Given the description of an element on the screen output the (x, y) to click on. 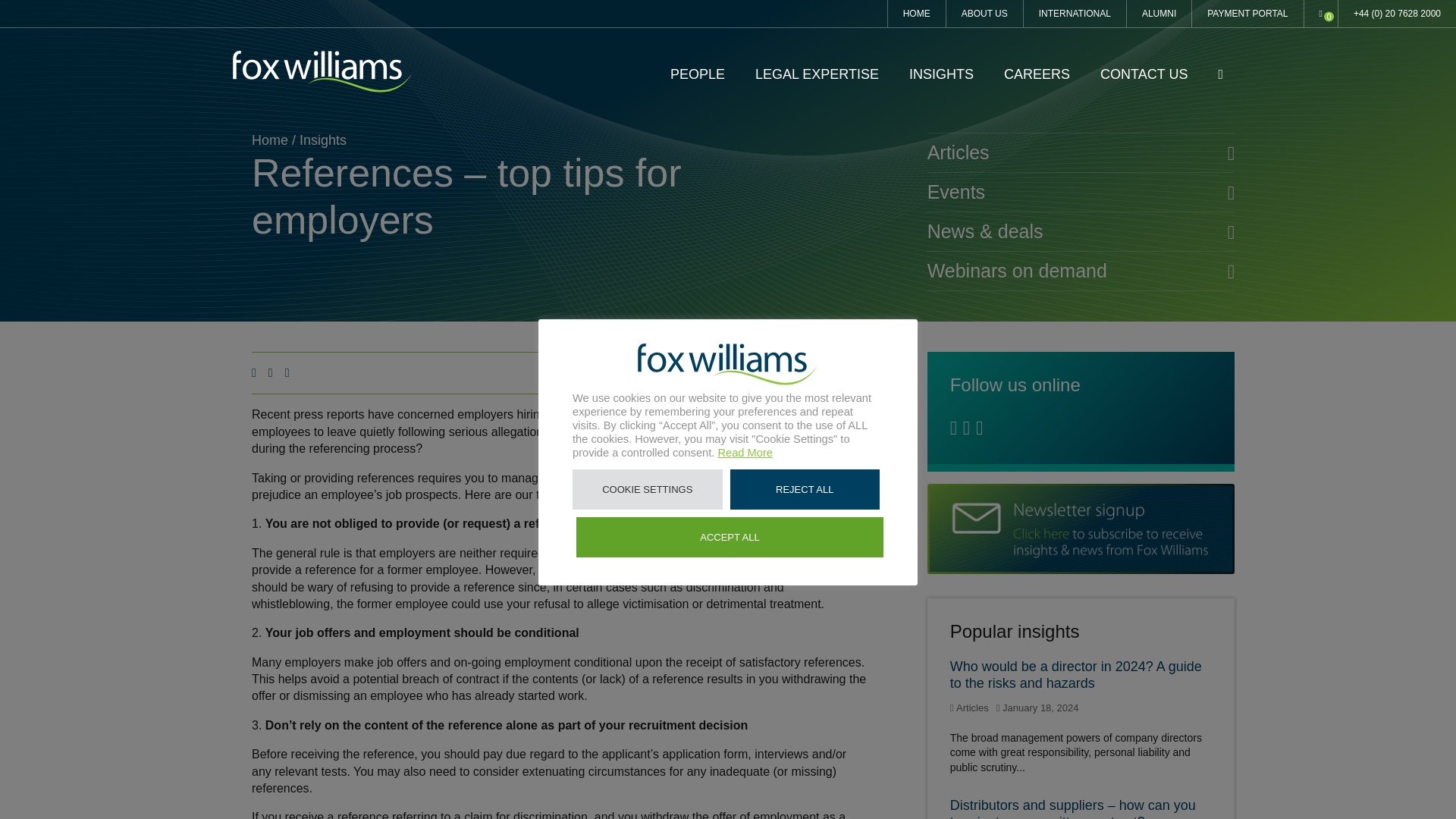
CONTACT US (1144, 74)
Events (1080, 192)
ALUMNI (1158, 13)
0 (1321, 13)
HOME (916, 13)
ABOUT US (984, 13)
Webinars on demand (1080, 270)
Articles (1080, 152)
INSIGHTS (941, 74)
INTERNATIONAL (1074, 13)
PAYMENT PORTAL (1247, 13)
LEGAL EXPERTISE (817, 74)
CAREERS (1037, 74)
PEOPLE (697, 74)
